Given the description of an element on the screen output the (x, y) to click on. 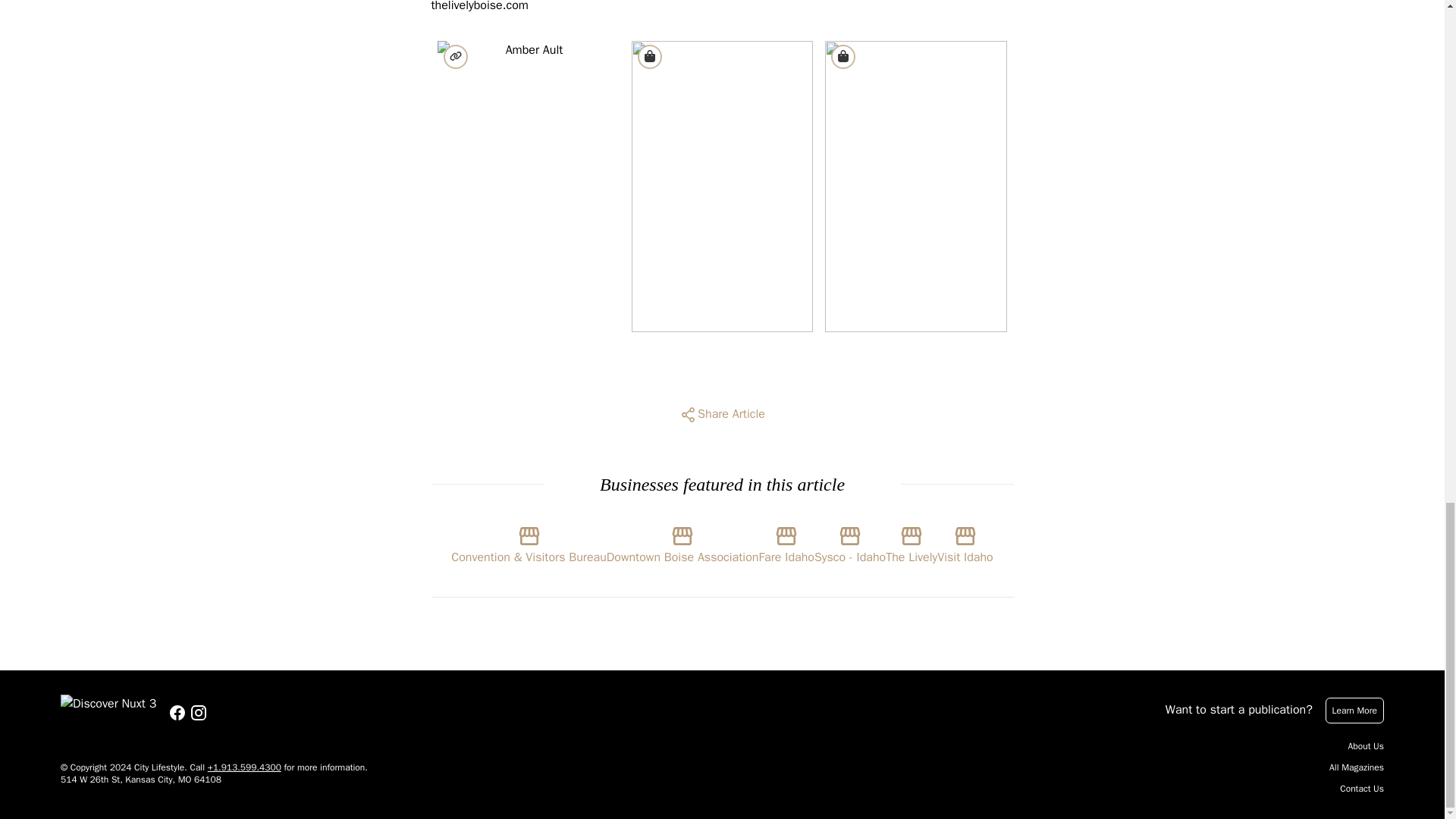
Contact Us (1361, 788)
Visit Idaho (964, 540)
Fare Idaho (785, 540)
Share Article (722, 414)
Learn More (1354, 710)
Downtown Boise Association (682, 540)
All Magazines (1356, 767)
The Lively (911, 540)
Sysco - Idaho (849, 540)
About Us (1366, 746)
